Given the description of an element on the screen output the (x, y) to click on. 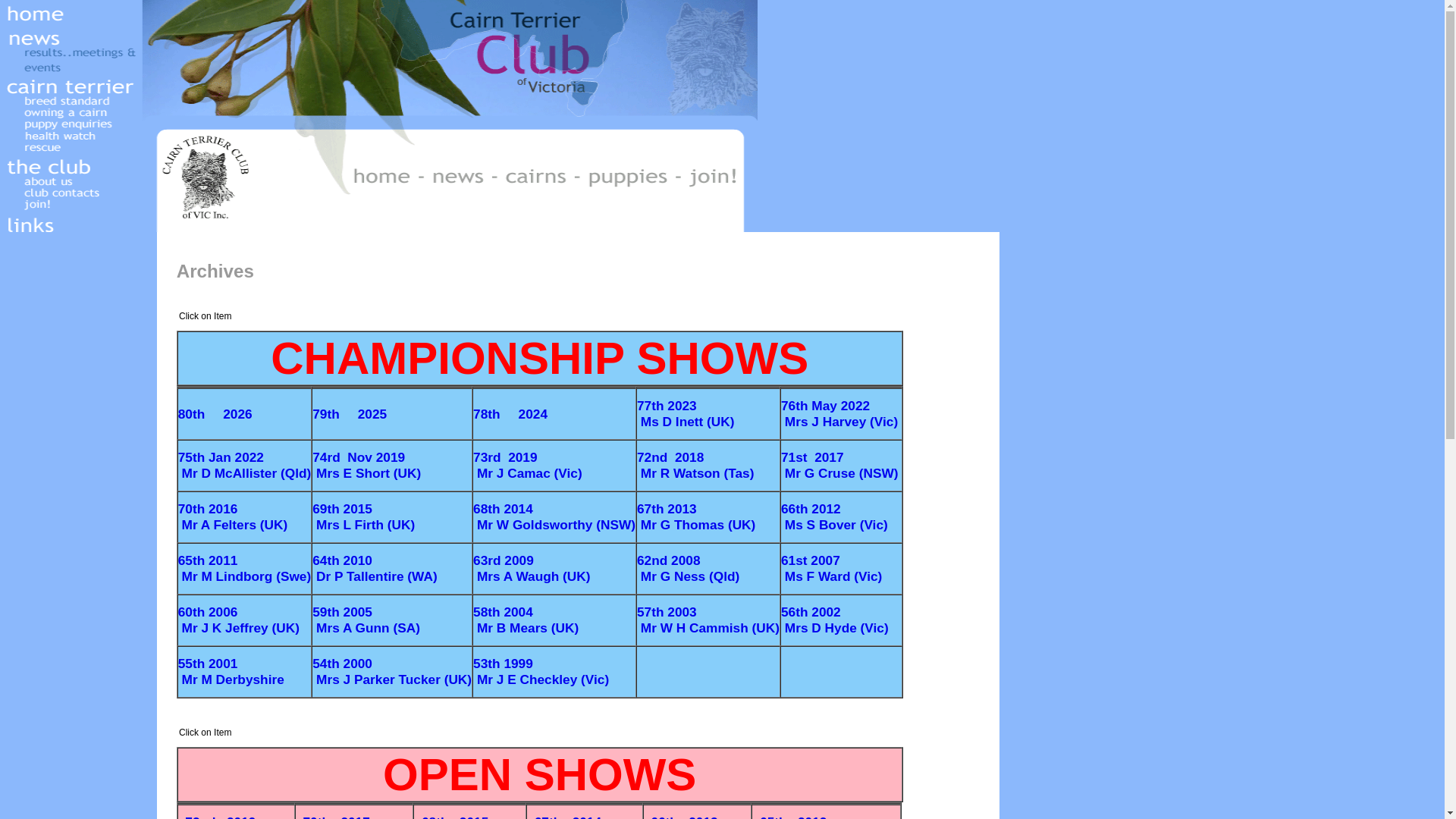
71st  2017  Mr G Cruse (NSW) Element type: text (839, 466)
77th 2023  Ms D Inett (UK) Element type: text (685, 414)
57th 2003  Mr W H Cammish (UK) Element type: text (708, 621)
78th     2024 Element type: text (510, 414)
73rd  2019  Mr J Camac (Vic) Element type: text (527, 466)
69th 2015  Mrs L Firth (UK) Element type: text (363, 518)
61st 2007  Ms F Ward (Vic) Element type: text (831, 569)
66th 2012
 Ms S Bover (Vic) Element type: text (834, 518)
55th 2001  Mr M Derbyshire Element type: text (231, 672)
62nd 2008  Mr G Ness (Qld) Element type: text (688, 569)
79th     2025 Element type: text (349, 414)
64th 2010  Dr P Tallentire (WA) Element type: text (374, 569)
67th 2013  Mr G Thomas (UK) Element type: text (696, 518)
58th 2004  Mr B Mears (UK) Element type: text (525, 621)
65th 2011  Mr M Lindborg (Swe) Element type: text (244, 569)
56th 2002  Mrs D Hyde (Vic) Element type: text (834, 621)
76th May 2022  Mrs J Harvey (Vic)  Element type: text (841, 414)
59th 2005  Mrs A Gunn (SA) Element type: text (366, 621)
54th 2000  Mrs J Parker Tucker (UK) Element type: text (391, 672)
60th 2006  Mr J K Jeffrey (UK) Element type: text (238, 621)
63rd 2009  Mrs A Waugh (UK) Element type: text (531, 569)
72nd  2018  Mr R Watson (Tas) Element type: text (695, 466)
70th 2016  Mr A Felters (UK) Element type: text (233, 518)
68th 2014  Mr W Goldsworthy (NSW) Element type: text (554, 518)
53th 1999  Mr J E Checkley (Vic) Element type: text (540, 672)
75th Jan 2022  Mr D McAllister (Qld) Element type: text (244, 466)
80th     2026 Element type: text (215, 414)
74rd  Nov 2019  Mrs E Short (UK) Element type: text (366, 466)
